Given the description of an element on the screen output the (x, y) to click on. 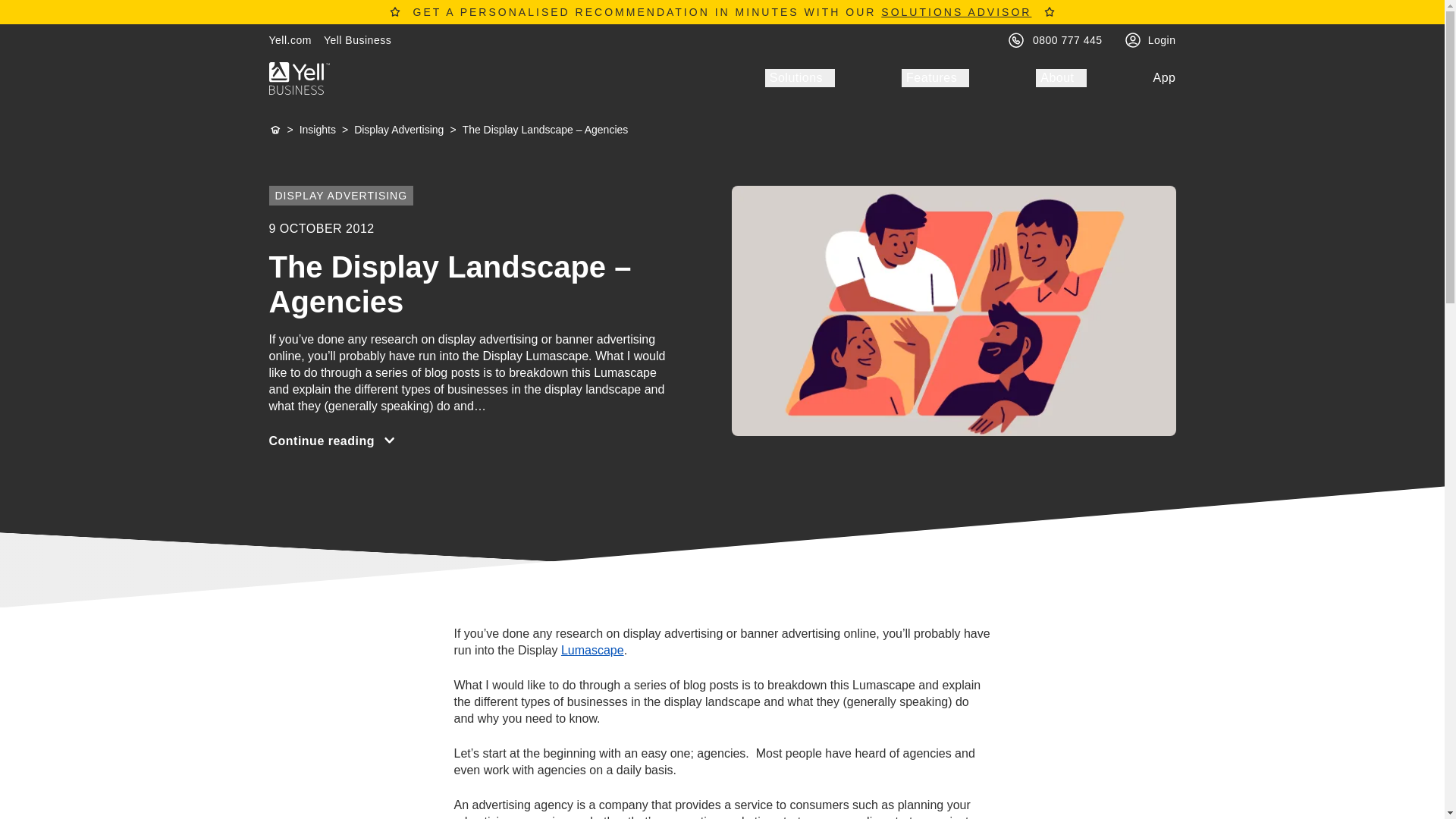
Features (935, 77)
Login (1162, 39)
SOLUTIONS ADVISOR (955, 11)
Yell.com (289, 39)
0800 777 445 (1067, 39)
About (1060, 77)
Solutions (799, 77)
Yell Business (357, 39)
